Given the description of an element on the screen output the (x, y) to click on. 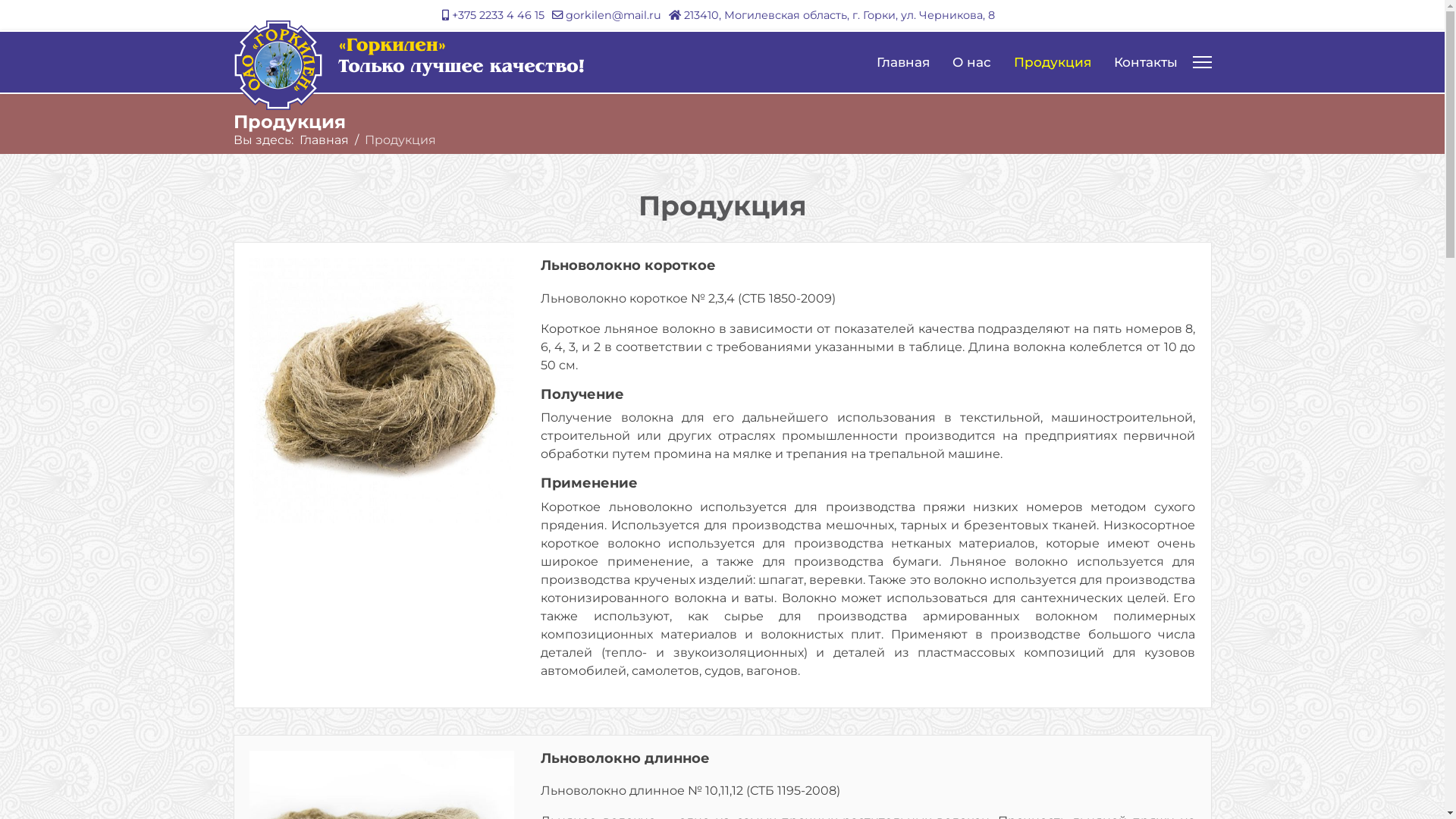
+375 2233 4 46 15 Element type: text (497, 14)
Navigation Element type: hover (1201, 61)
gorkilen@mail.ru Element type: text (613, 14)
